Given the description of an element on the screen output the (x, y) to click on. 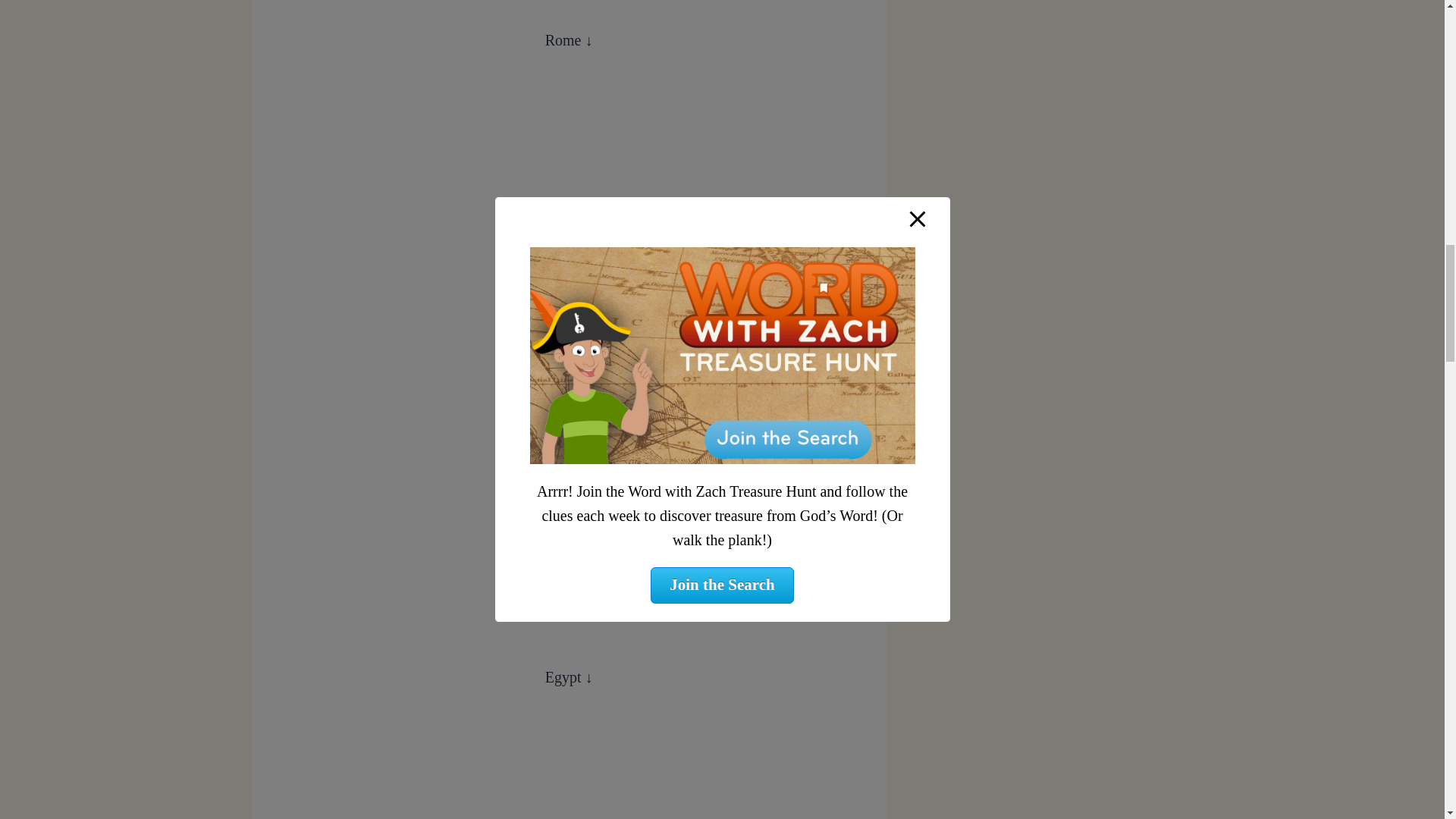
YouTube video player (568, 195)
YouTube video player (568, 766)
YouTube video player (568, 513)
